Given the description of an element on the screen output the (x, y) to click on. 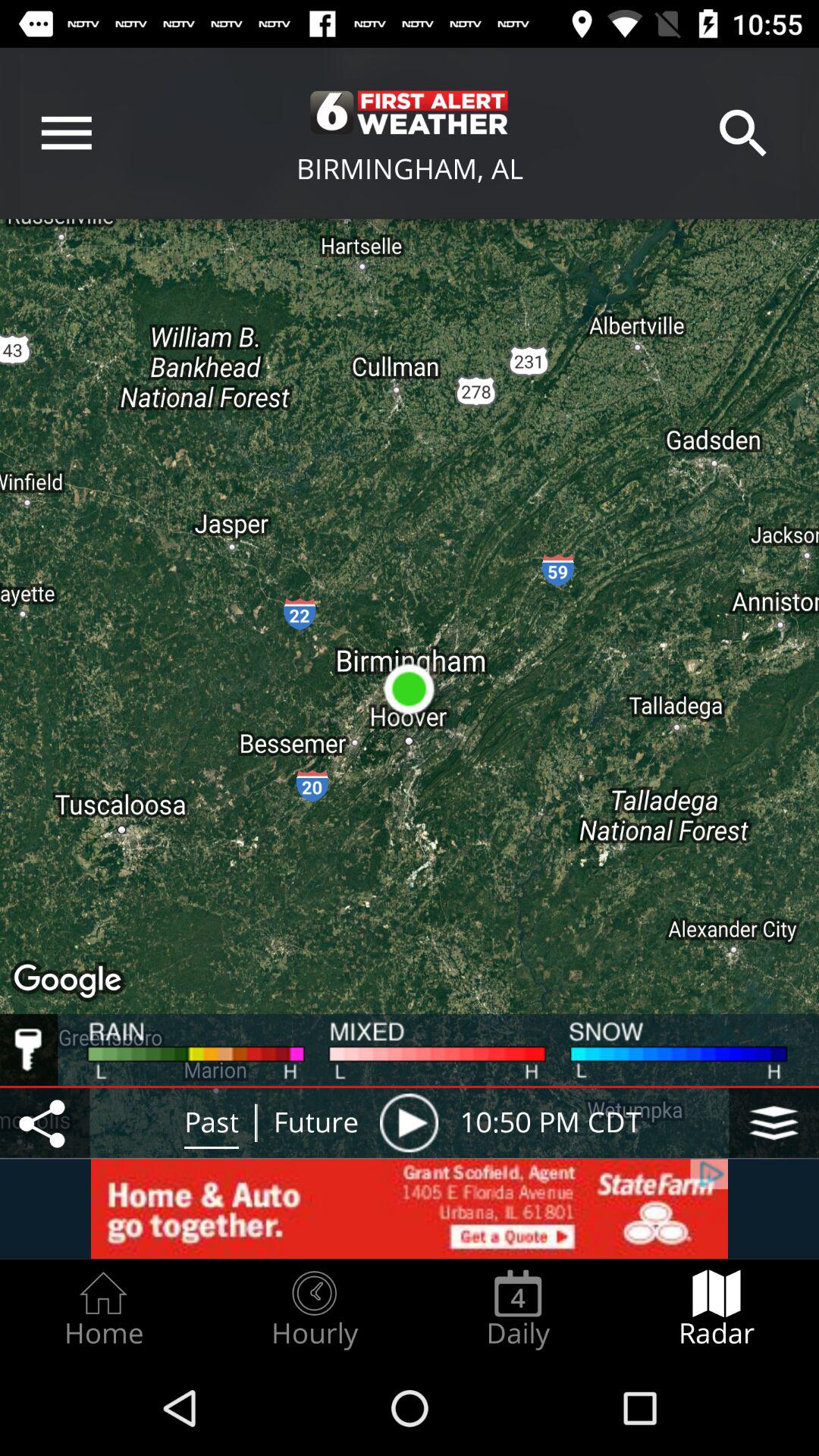
turn on the daily item (518, 1309)
